Given the description of an element on the screen output the (x, y) to click on. 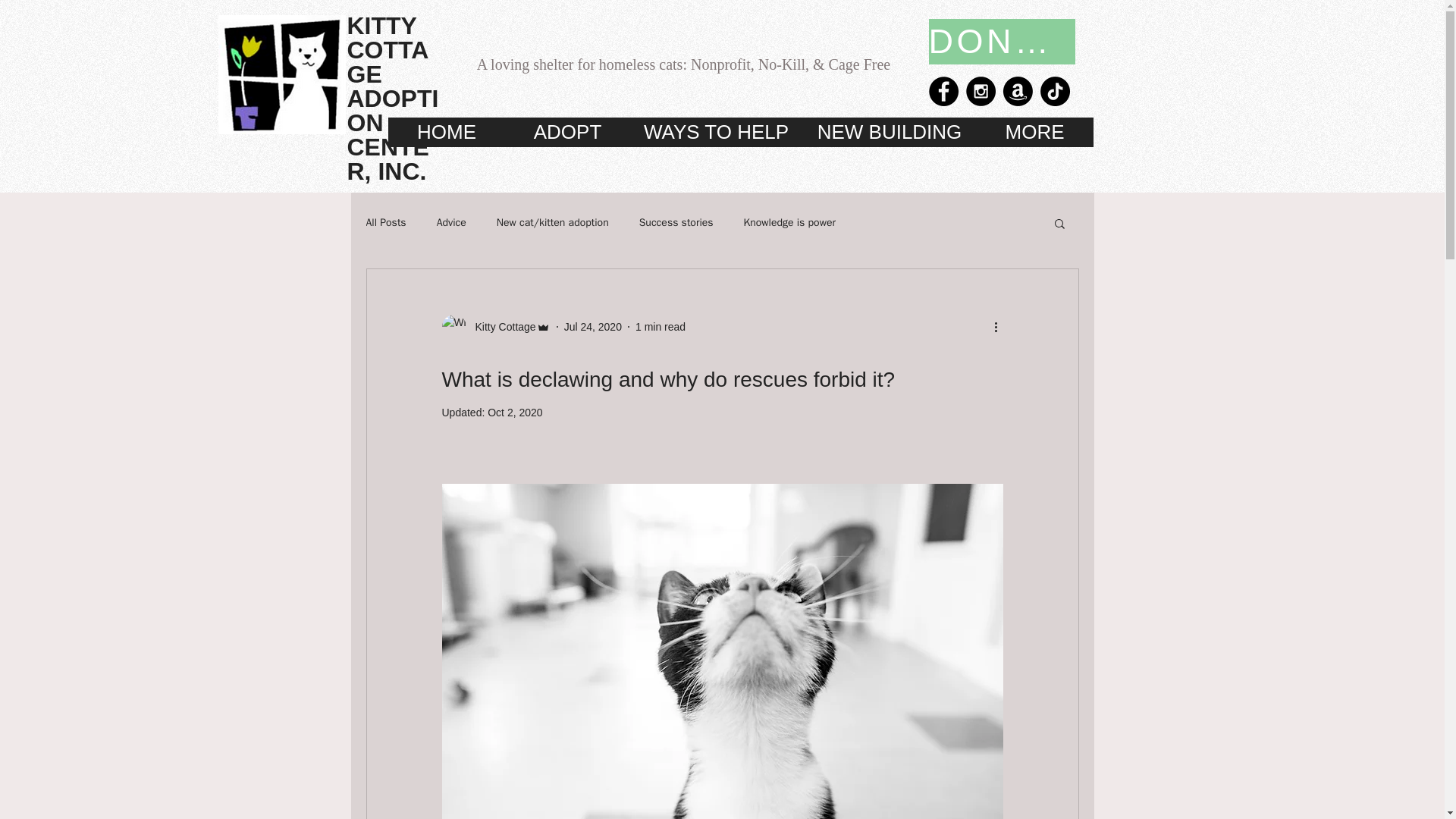
Screen Shot 2016-07-18 at 3.05.00 PM.png (282, 74)
Jul 24, 2020 (592, 326)
Oct 2, 2020 (514, 412)
Kitty Cottage (500, 326)
1 min read (659, 326)
DONATE (1001, 41)
